Given the description of an element on the screen output the (x, y) to click on. 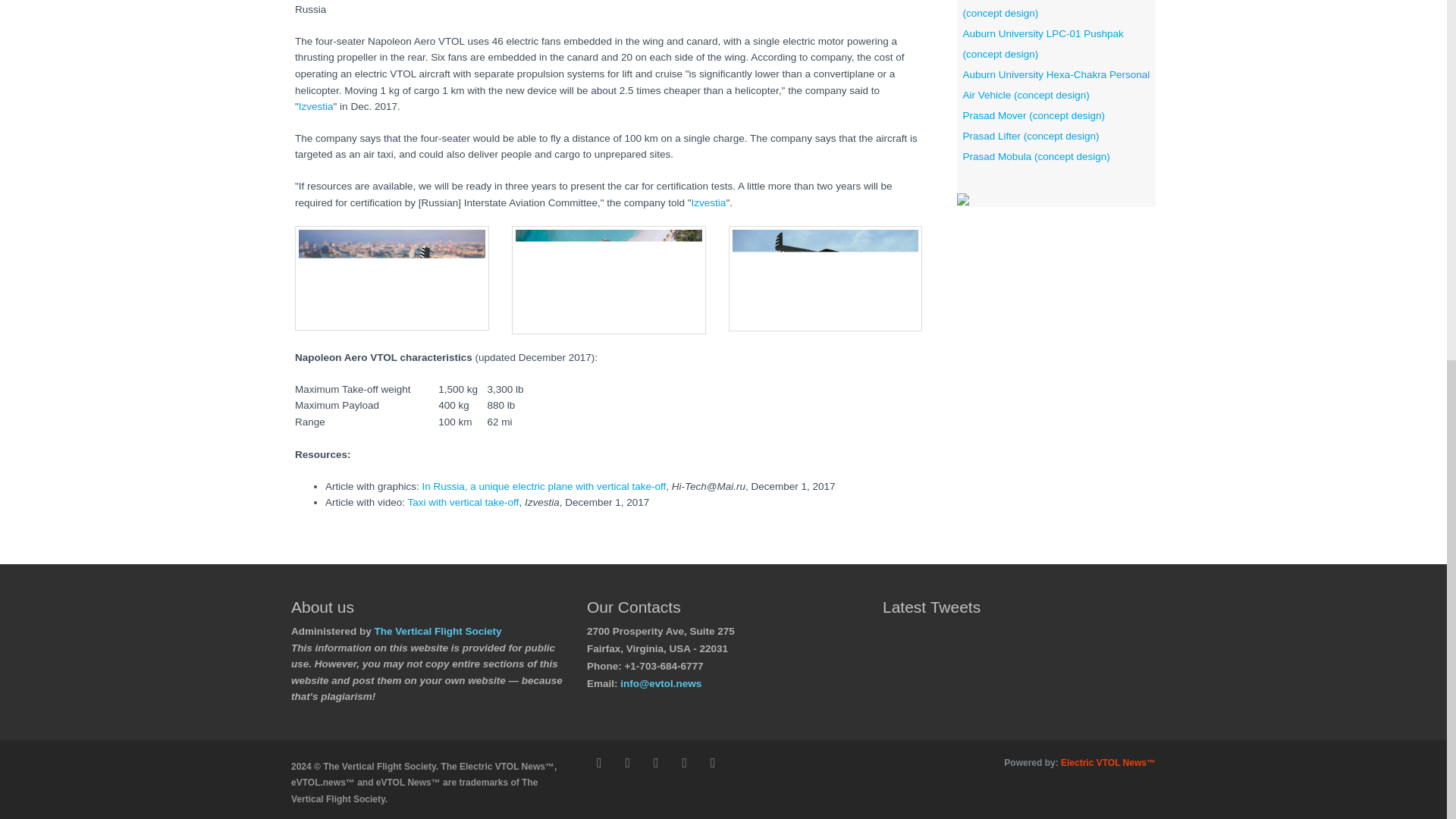
Izvestia (315, 106)
Izvestia (708, 202)
Taxi with vertical take-off (463, 501)
In Russia, a unique electric plane with vertical take-off (544, 486)
